Given the description of an element on the screen output the (x, y) to click on. 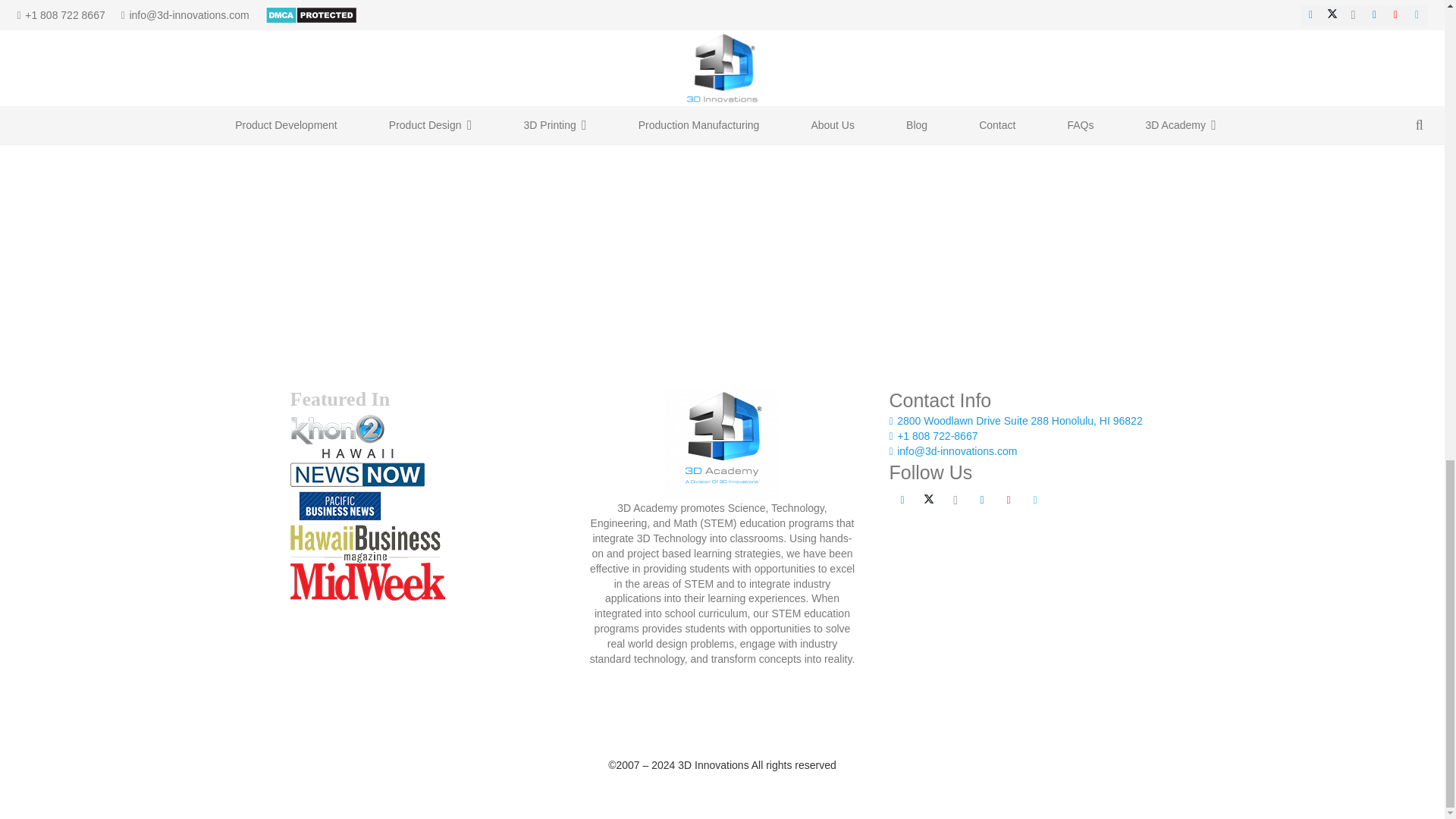
Facebook (901, 499)
